Given the description of an element on the screen output the (x, y) to click on. 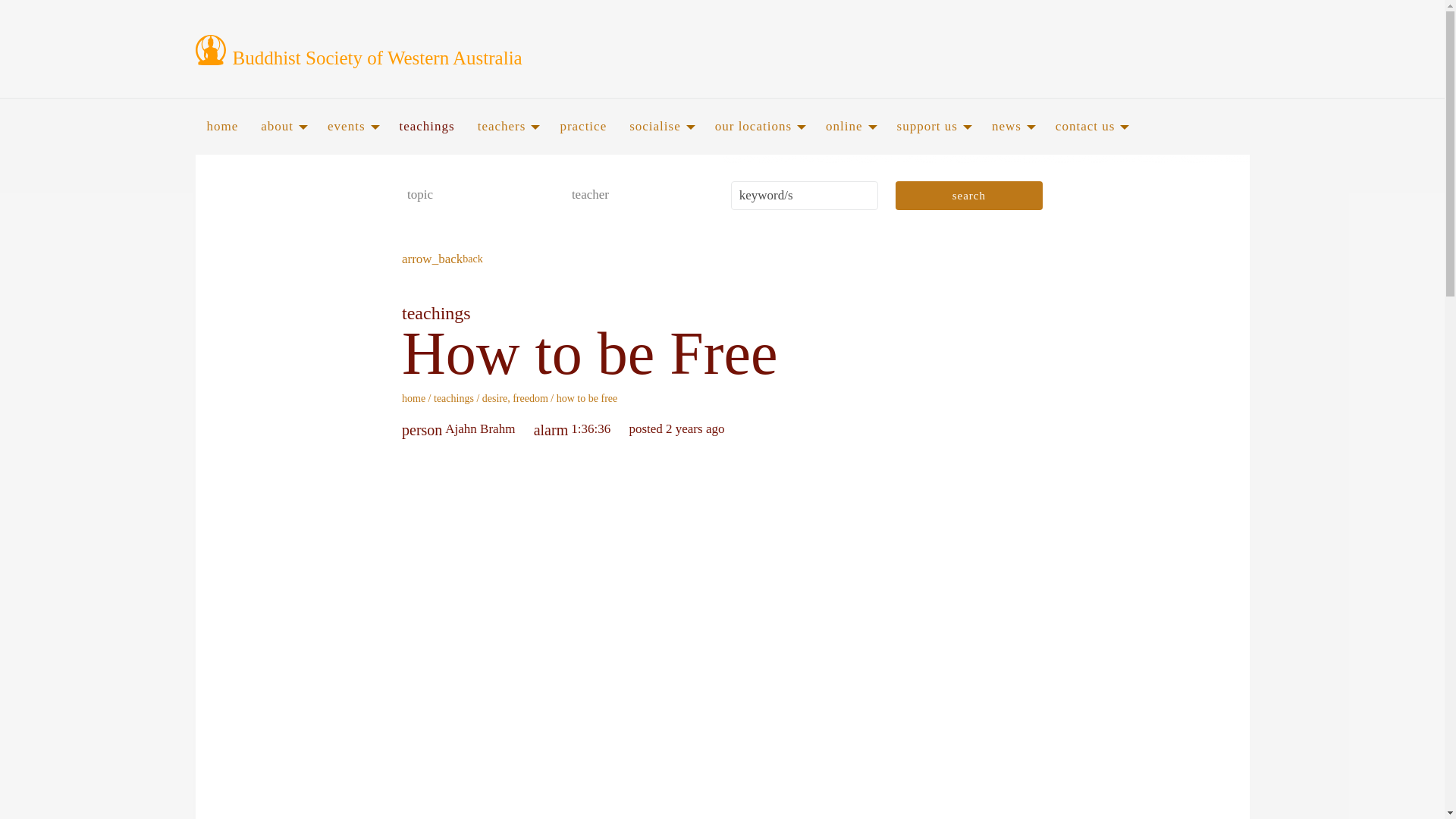
teachings (426, 126)
Buddhist Society of Western Australia (403, 54)
Go to Home. (413, 398)
about (281, 126)
socialise (660, 126)
teachers (506, 126)
our locations (758, 126)
Go to teachings. (453, 398)
Go to the desire tag archives. (493, 398)
search (968, 194)
